Given the description of an element on the screen output the (x, y) to click on. 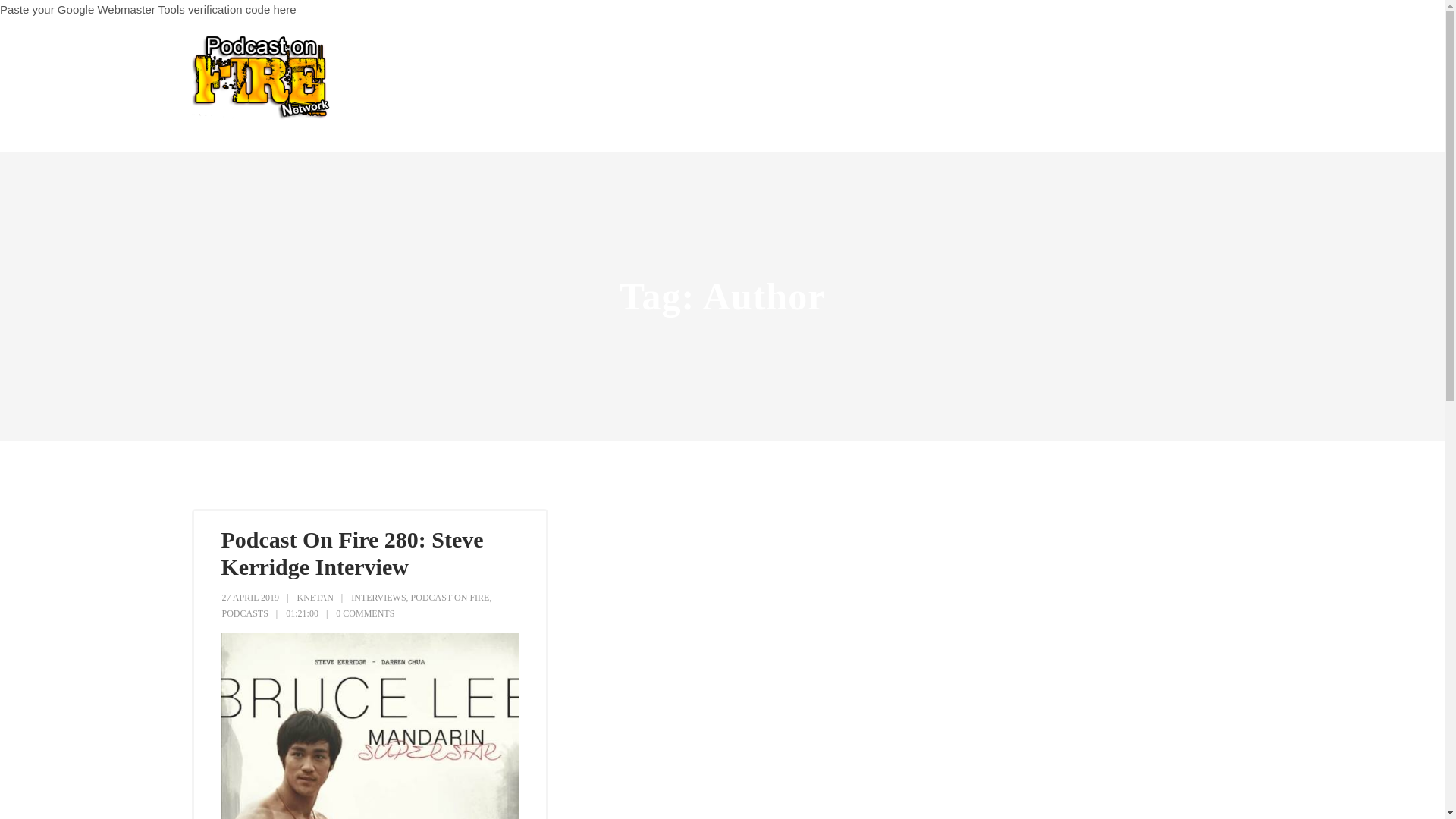
PODCAST ON FIRE (449, 597)
0 COMMENTS (365, 613)
PODCASTS (244, 613)
27 APRIL 2019 (250, 597)
Podcast On Fire 280: Steve Kerridge Interview (352, 553)
KNETAN (315, 597)
INTERVIEWS (378, 597)
